Given the description of an element on the screen output the (x, y) to click on. 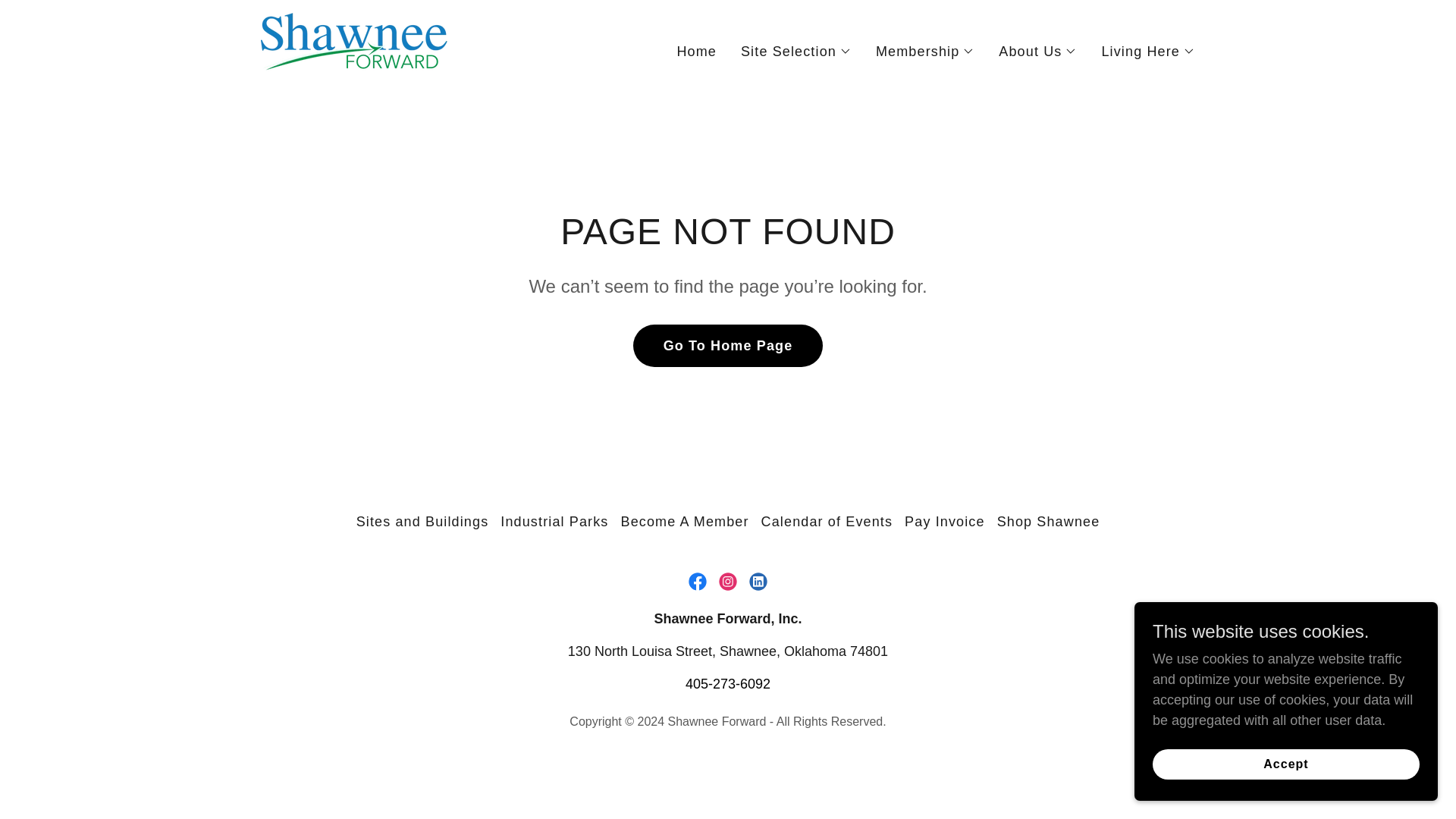
About Us (1037, 51)
Site Selection (796, 51)
Membership (925, 51)
Living Here (1147, 51)
ShawneeForward (354, 48)
Home (695, 51)
